Given the description of an element on the screen output the (x, y) to click on. 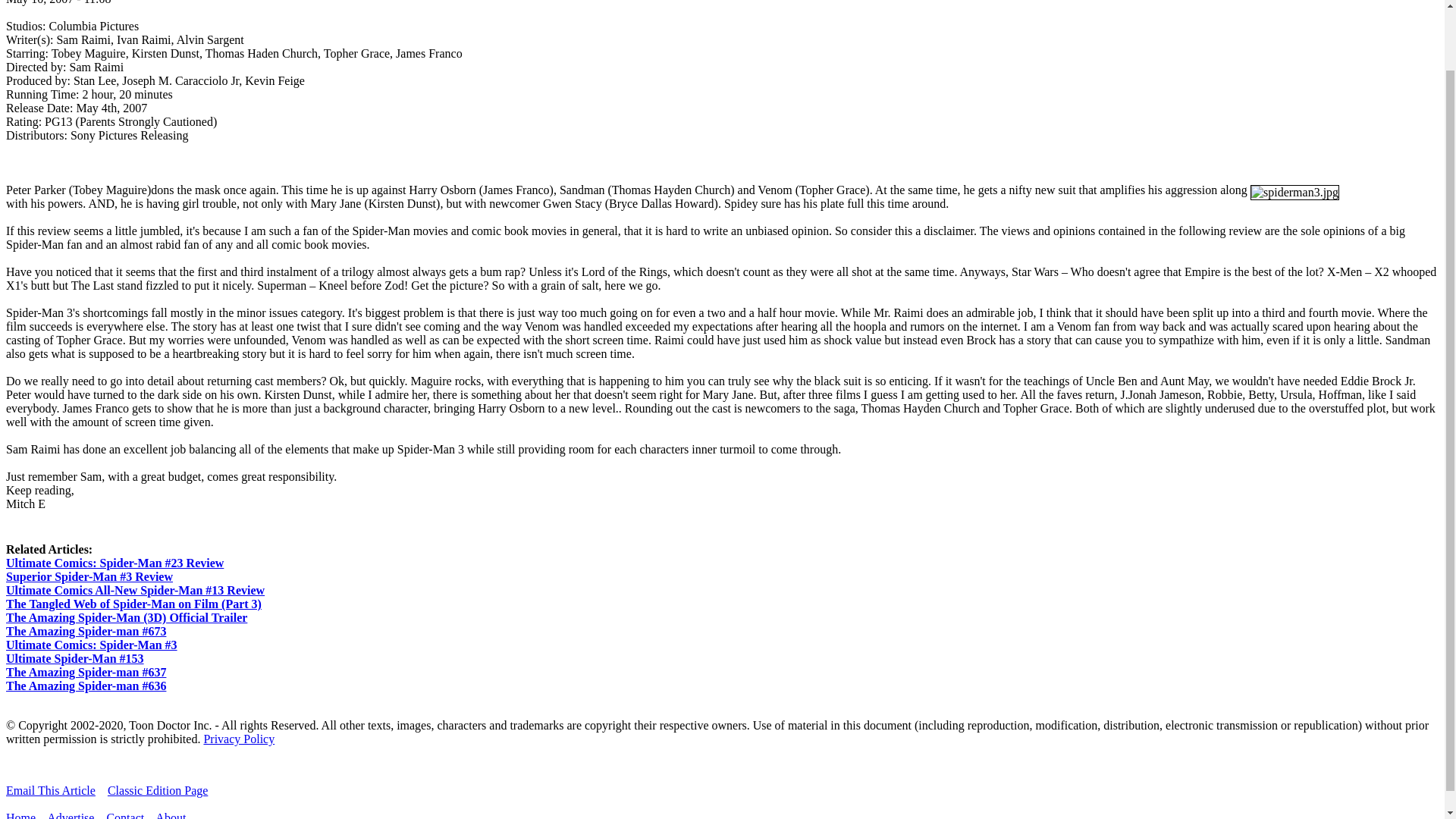
Email This Article (50, 789)
Privacy Policy (239, 738)
Classic Edition Page (157, 789)
